Given the description of an element on the screen output the (x, y) to click on. 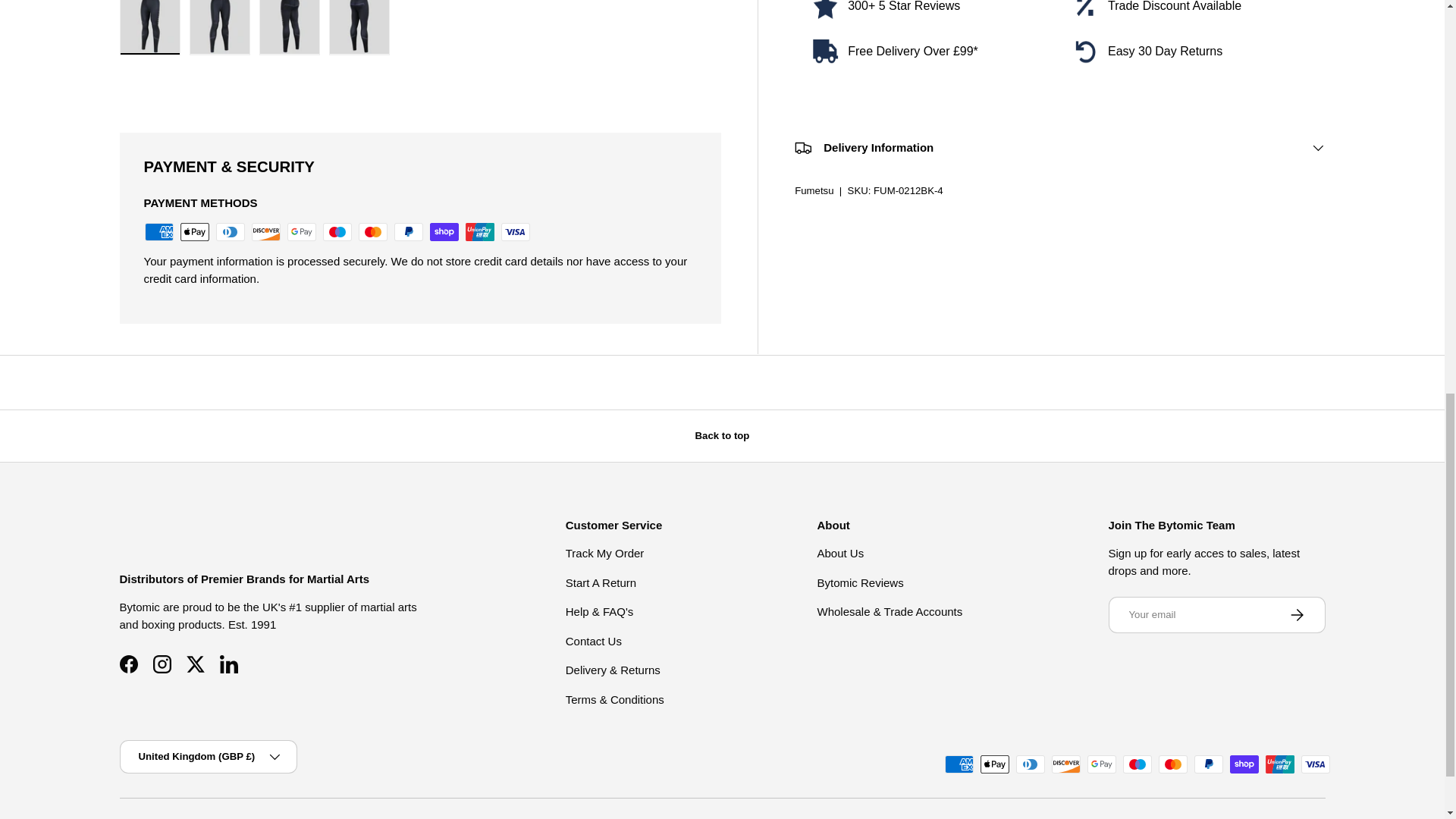
Bytomic Martial Arts on Instagram (162, 663)
Bytomic Martial Arts on Twitter (195, 663)
Bytomic Martial Arts on Facebook (128, 663)
Bytomic Martial Arts on LinkedIn (229, 663)
